Given the description of an element on the screen output the (x, y) to click on. 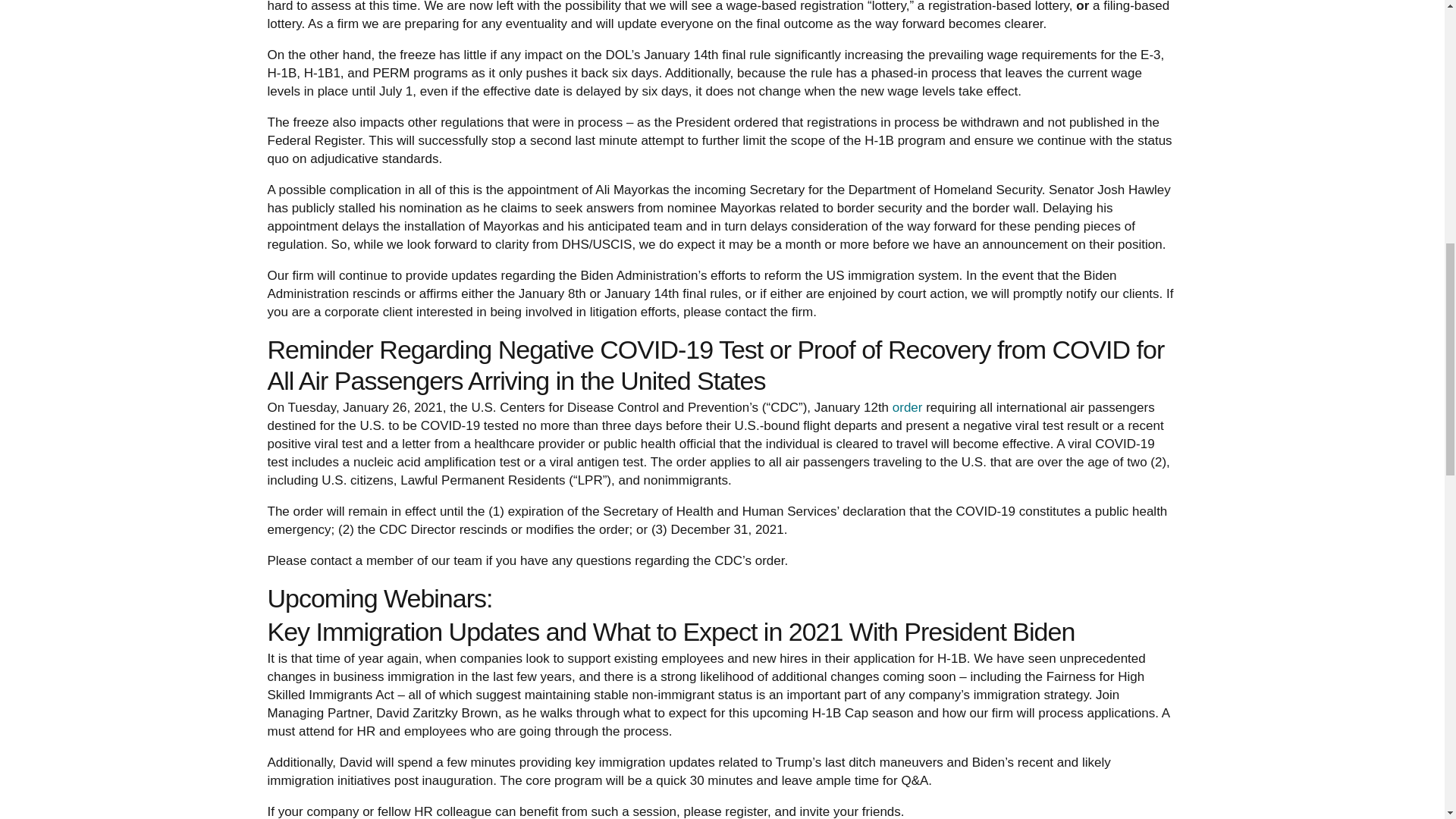
order (907, 407)
